Given the description of an element on the screen output the (x, y) to click on. 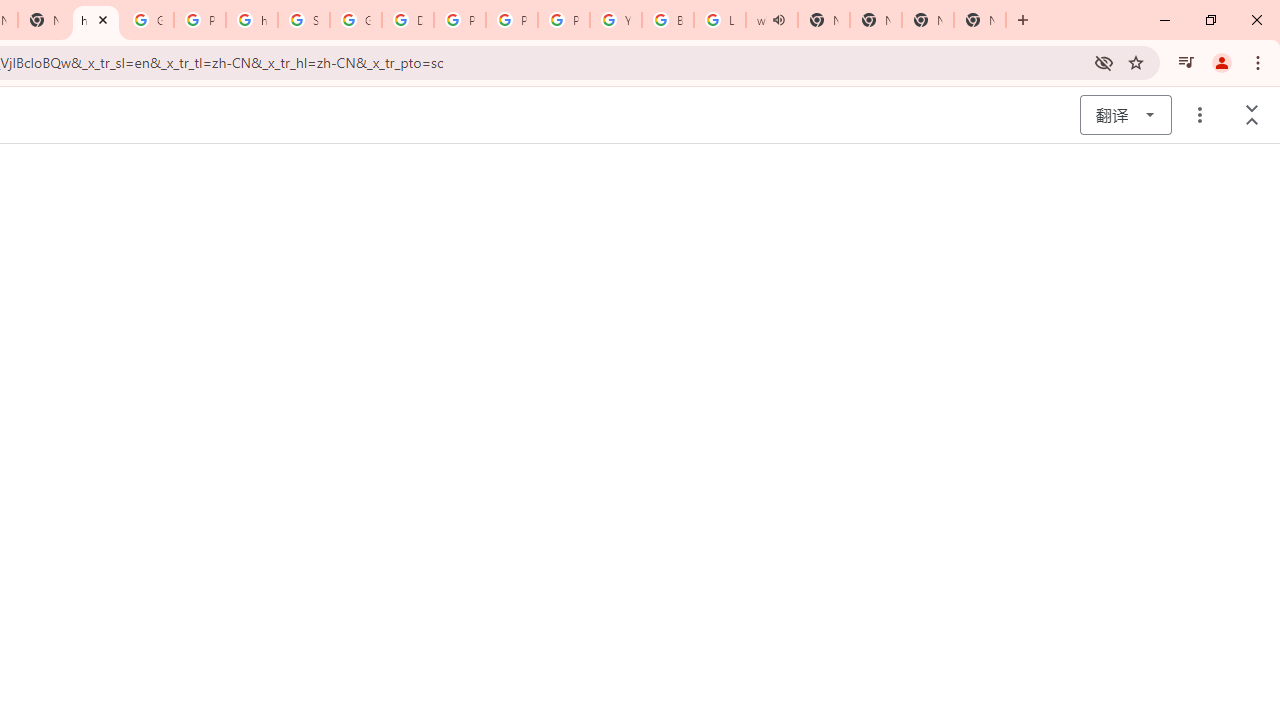
Privacy Help Center - Policies Help (511, 20)
https://scholar.google.com/ (95, 20)
New Tab (979, 20)
Privacy Help Center - Policies Help (459, 20)
